Given the description of an element on the screen output the (x, y) to click on. 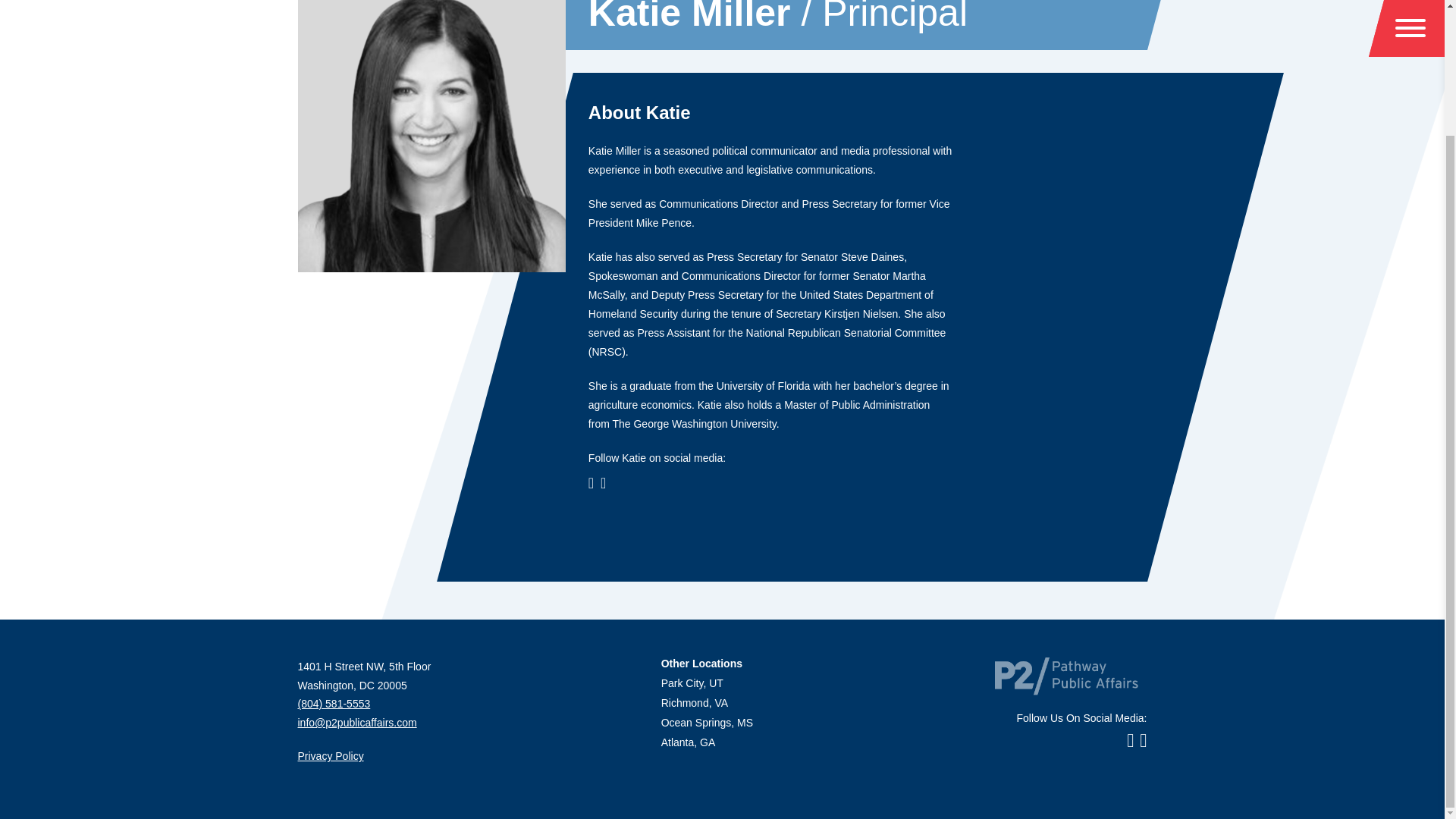
Privacy Policy (329, 756)
Pathway Public Affairs (1066, 675)
